Given the description of an element on the screen output the (x, y) to click on. 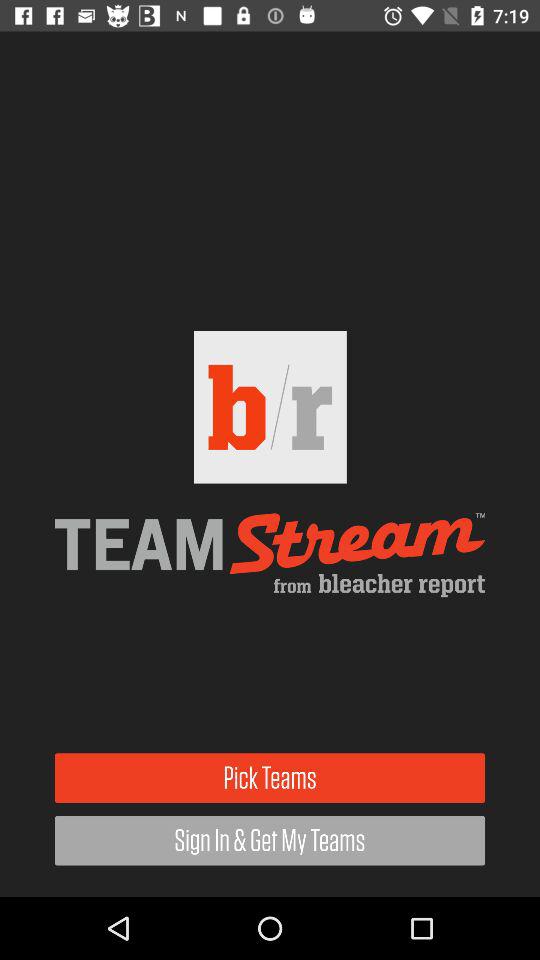
press the pick teams (269, 777)
